Given the description of an element on the screen output the (x, y) to click on. 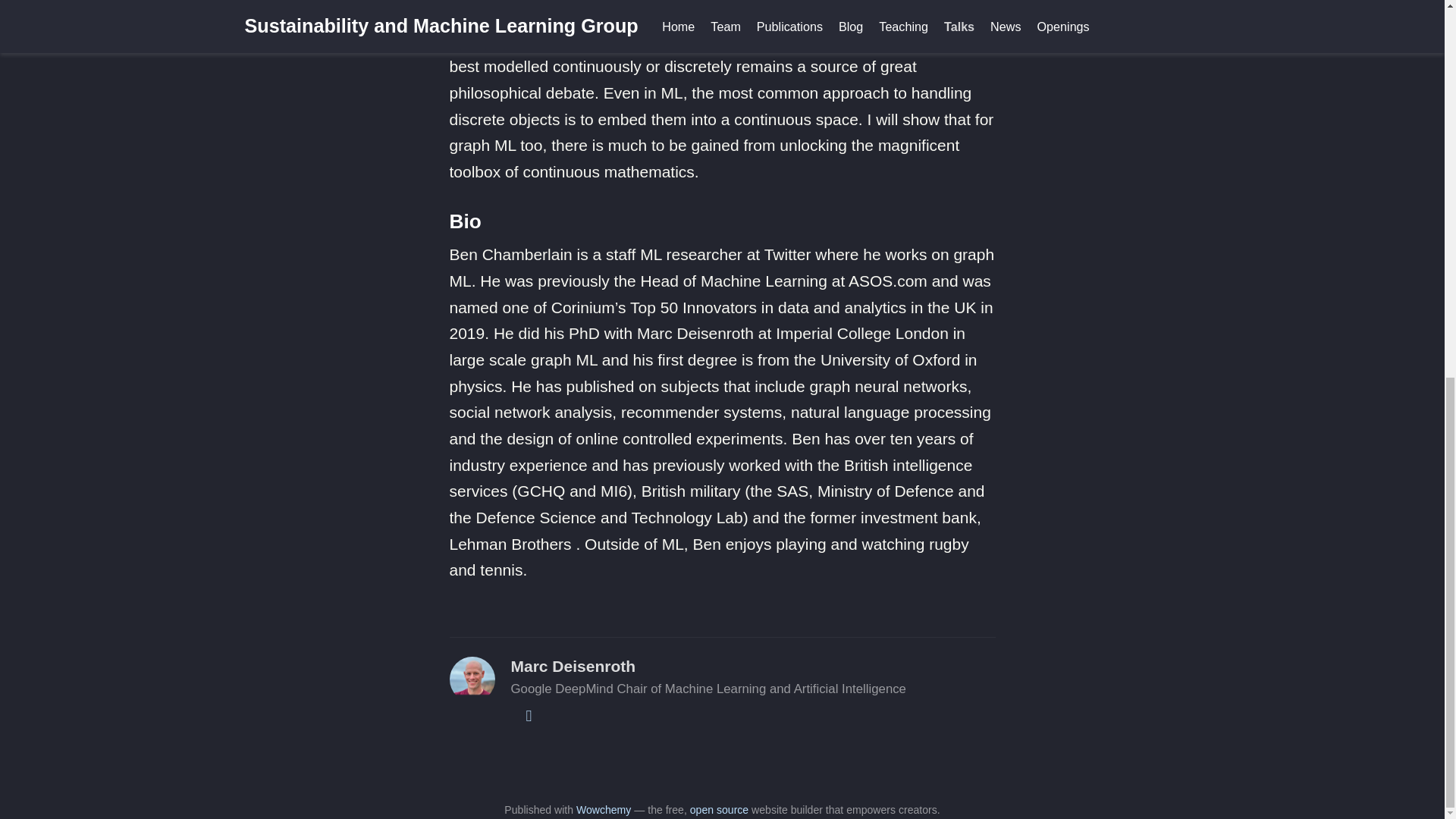
Marc Deisenroth (573, 665)
open source (719, 809)
Wowchemy (603, 809)
